Given the description of an element on the screen output the (x, y) to click on. 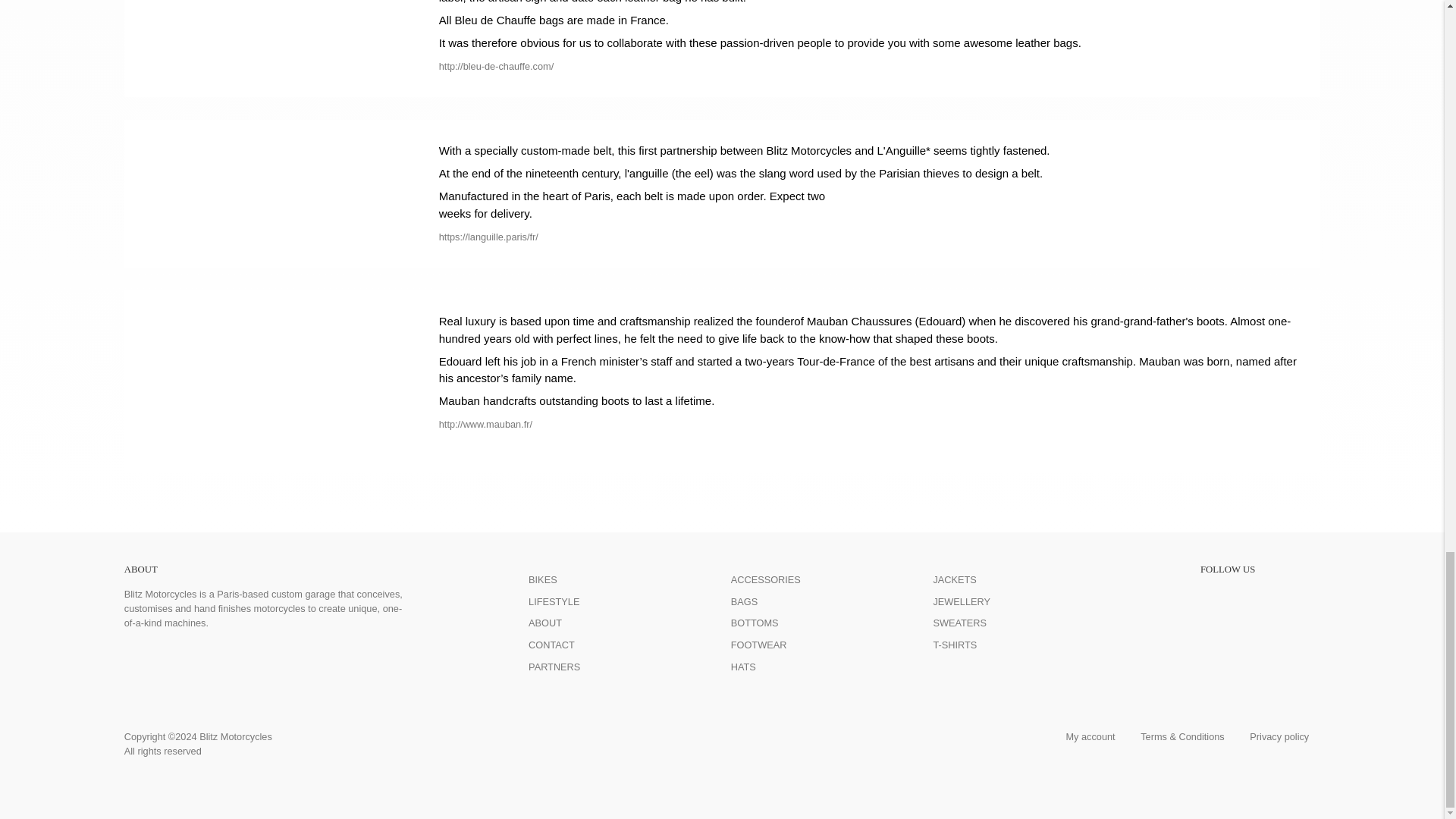
BIKES (542, 579)
